Given the description of an element on the screen output the (x, y) to click on. 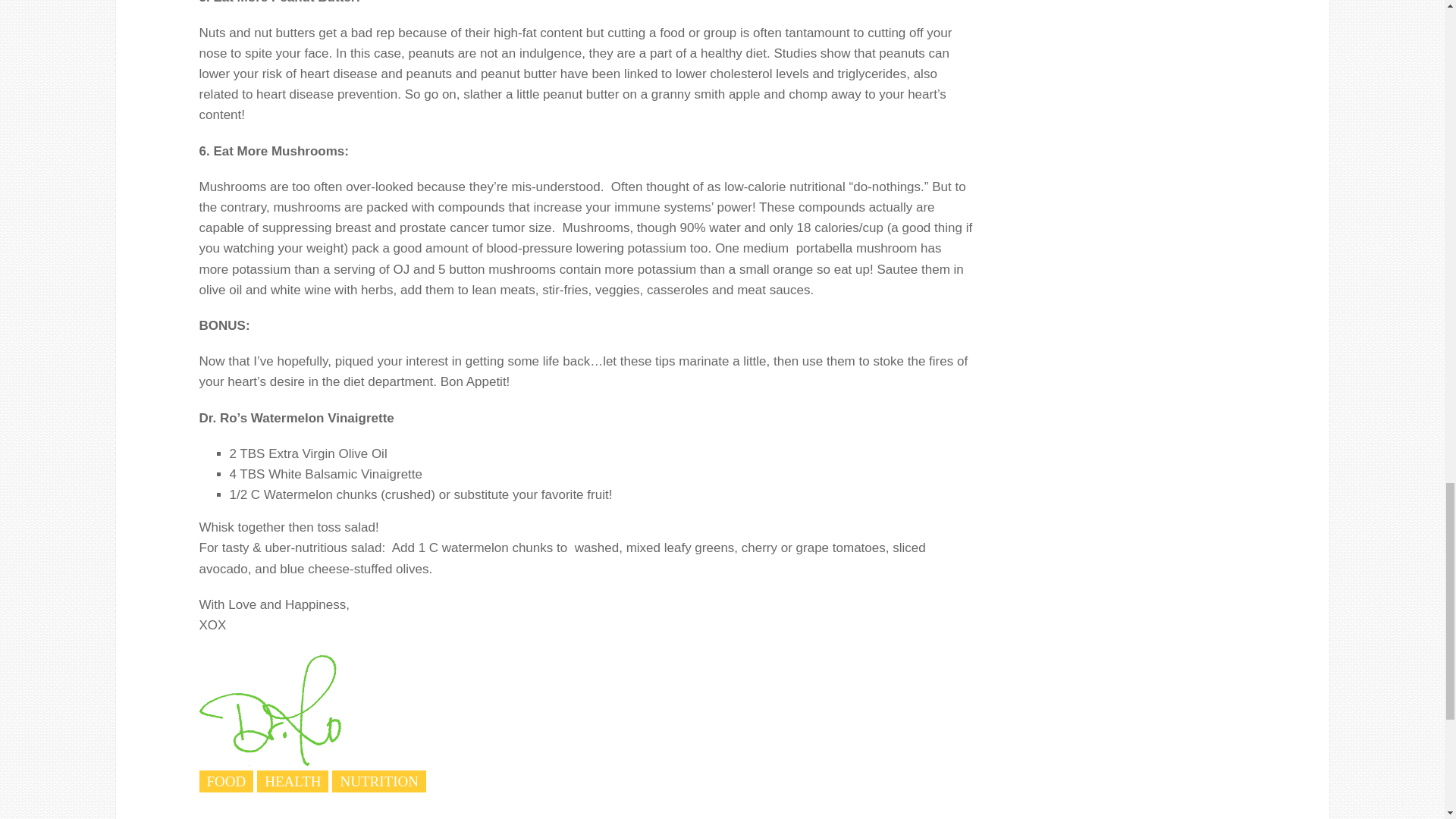
FOOD (225, 781)
NUTRITION (378, 781)
HEALTH (293, 781)
